Given the description of an element on the screen output the (x, y) to click on. 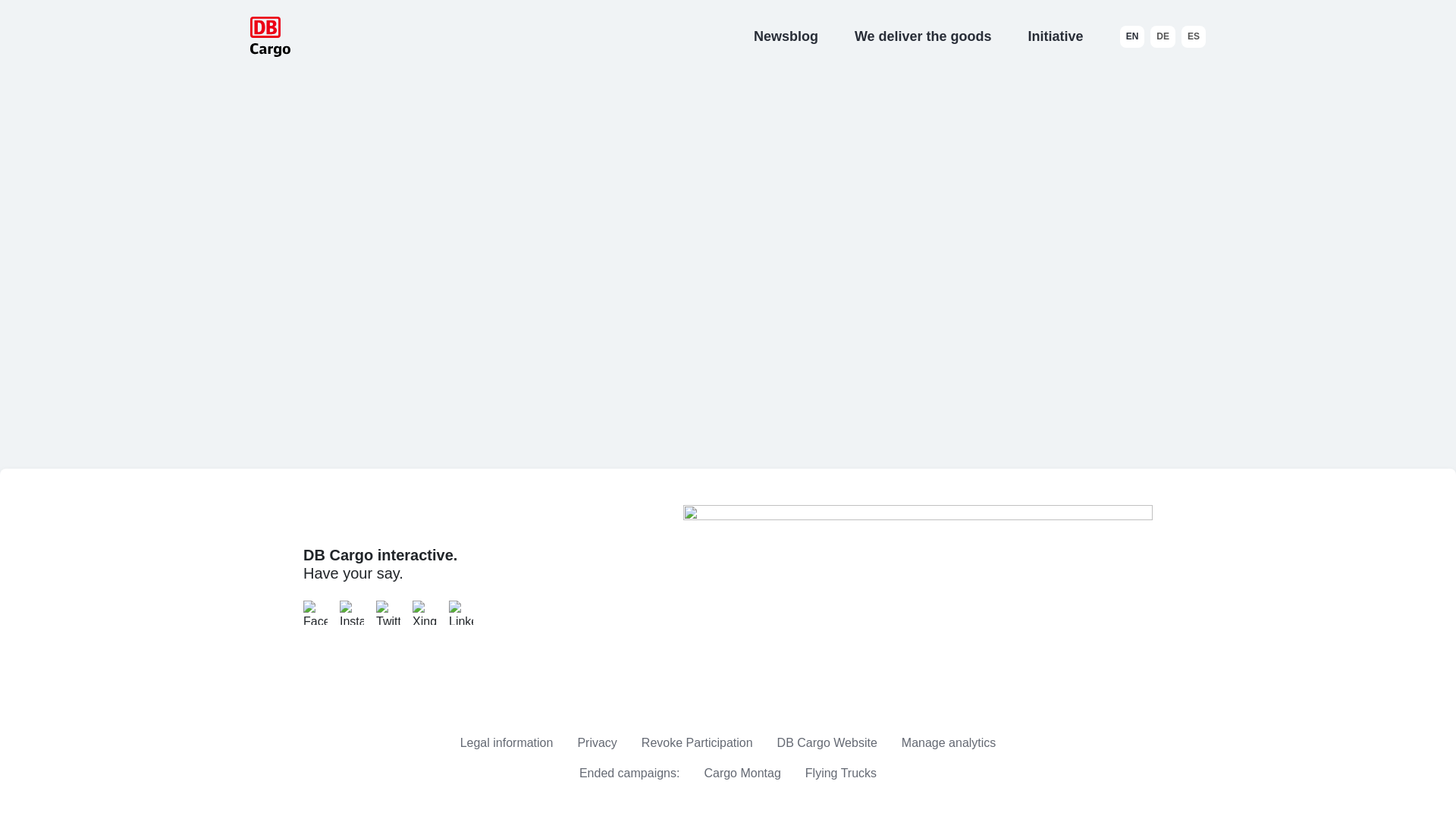
Privacy (595, 742)
Instagram (351, 612)
ES (1192, 36)
Initiative (1055, 36)
Manage analytics (948, 742)
Privacy (595, 742)
Cargo Montag (741, 772)
English (1131, 36)
DB Cargo Website (827, 742)
Flying Trucks (840, 772)
Legal information (506, 742)
EN (1131, 36)
DE (1162, 36)
LinkedIn (460, 612)
We deliver the goods (922, 36)
